Given the description of an element on the screen output the (x, y) to click on. 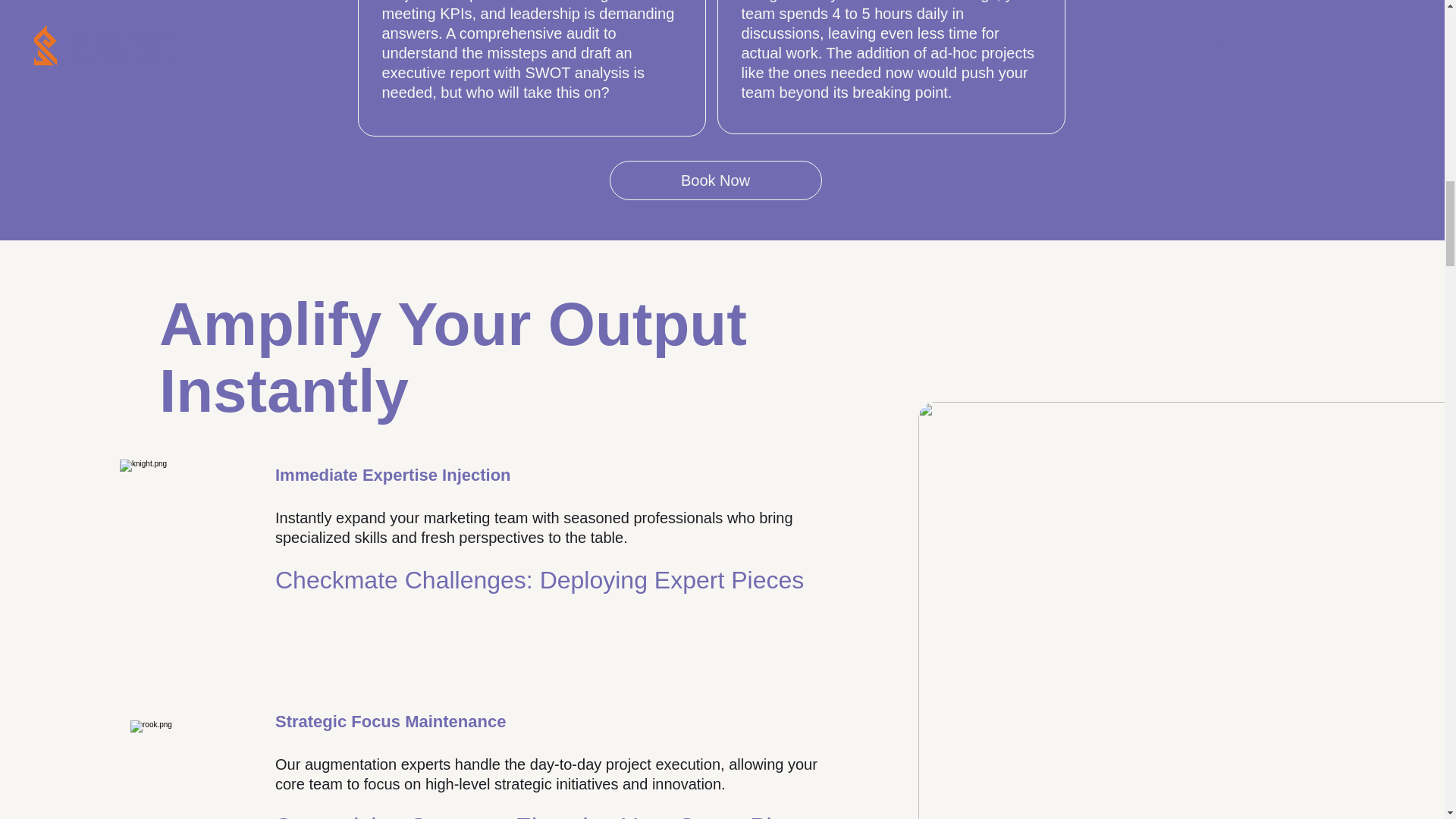
Book Now (716, 179)
